Given the description of an element on the screen output the (x, y) to click on. 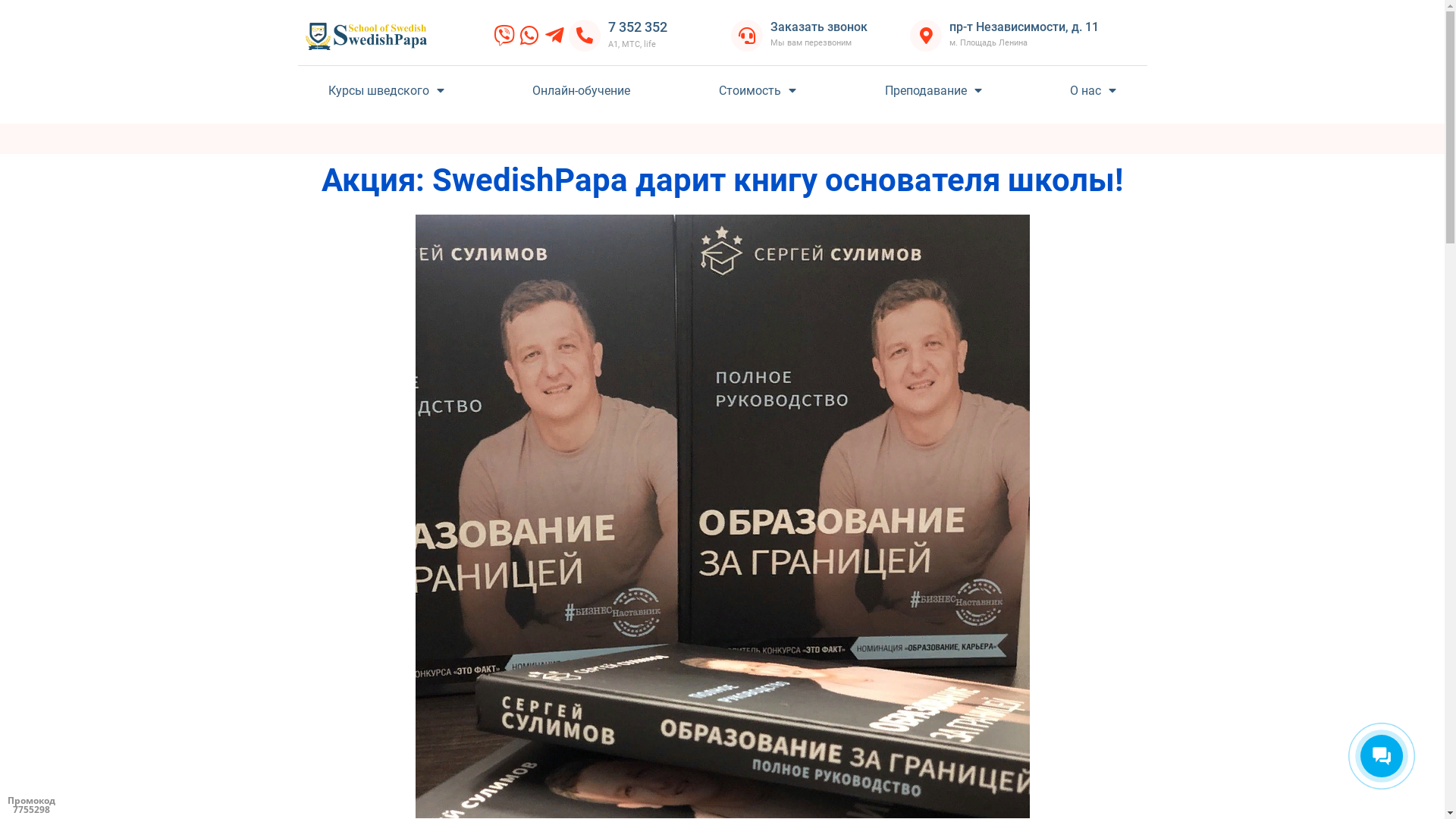
7 352 352 Element type: text (637, 26)
